Given the description of an element on the screen output the (x, y) to click on. 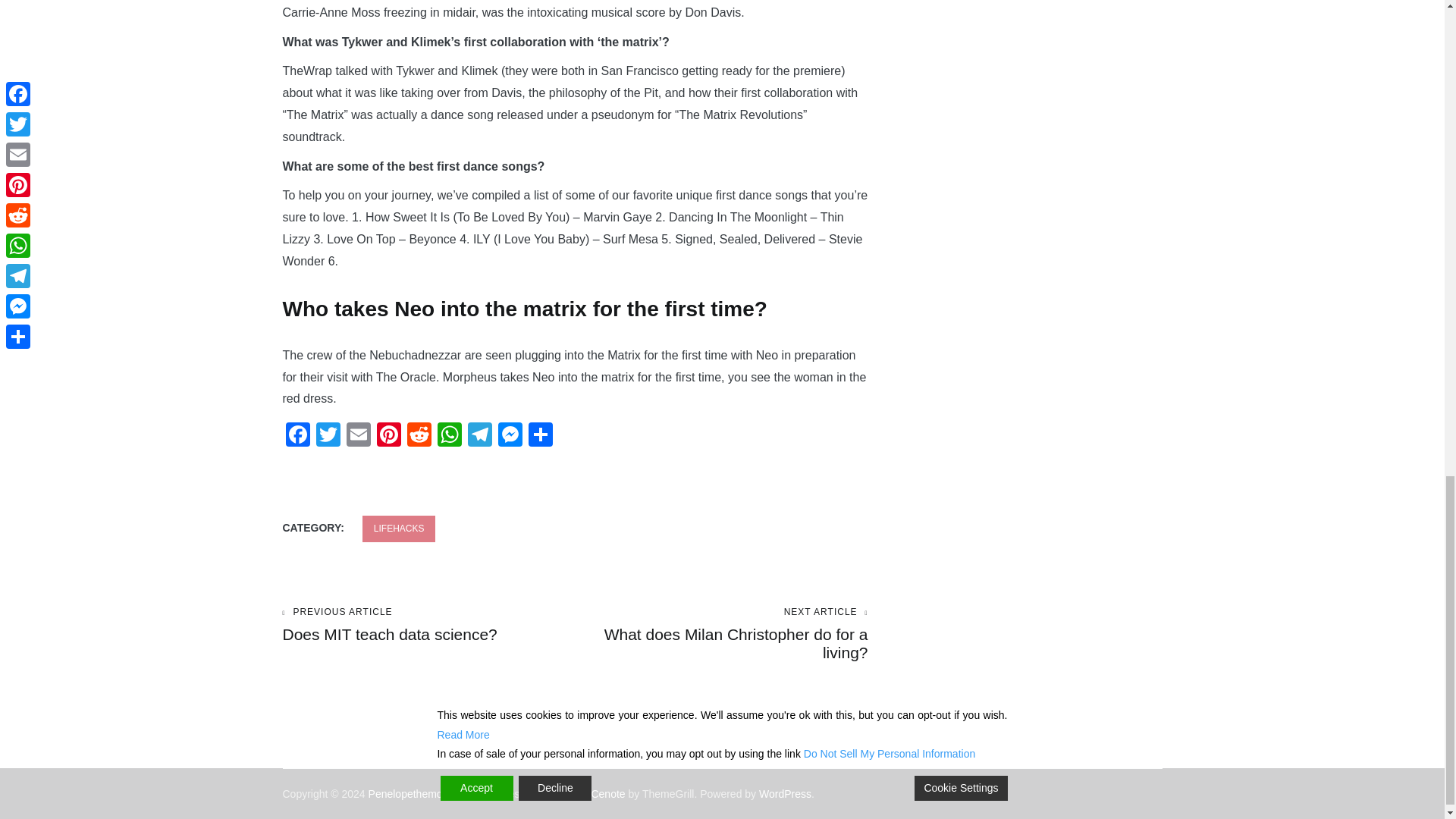
LIFEHACKS (398, 528)
Email (357, 436)
Penelopethemovie (428, 624)
Facebook (412, 793)
Email (297, 436)
Telegram (357, 436)
Twitter (479, 436)
WhatsApp (327, 436)
Reddit (448, 436)
Messenger (418, 436)
Share (509, 436)
Facebook (539, 436)
Messenger (297, 436)
Pinterest (509, 436)
